Given the description of an element on the screen output the (x, y) to click on. 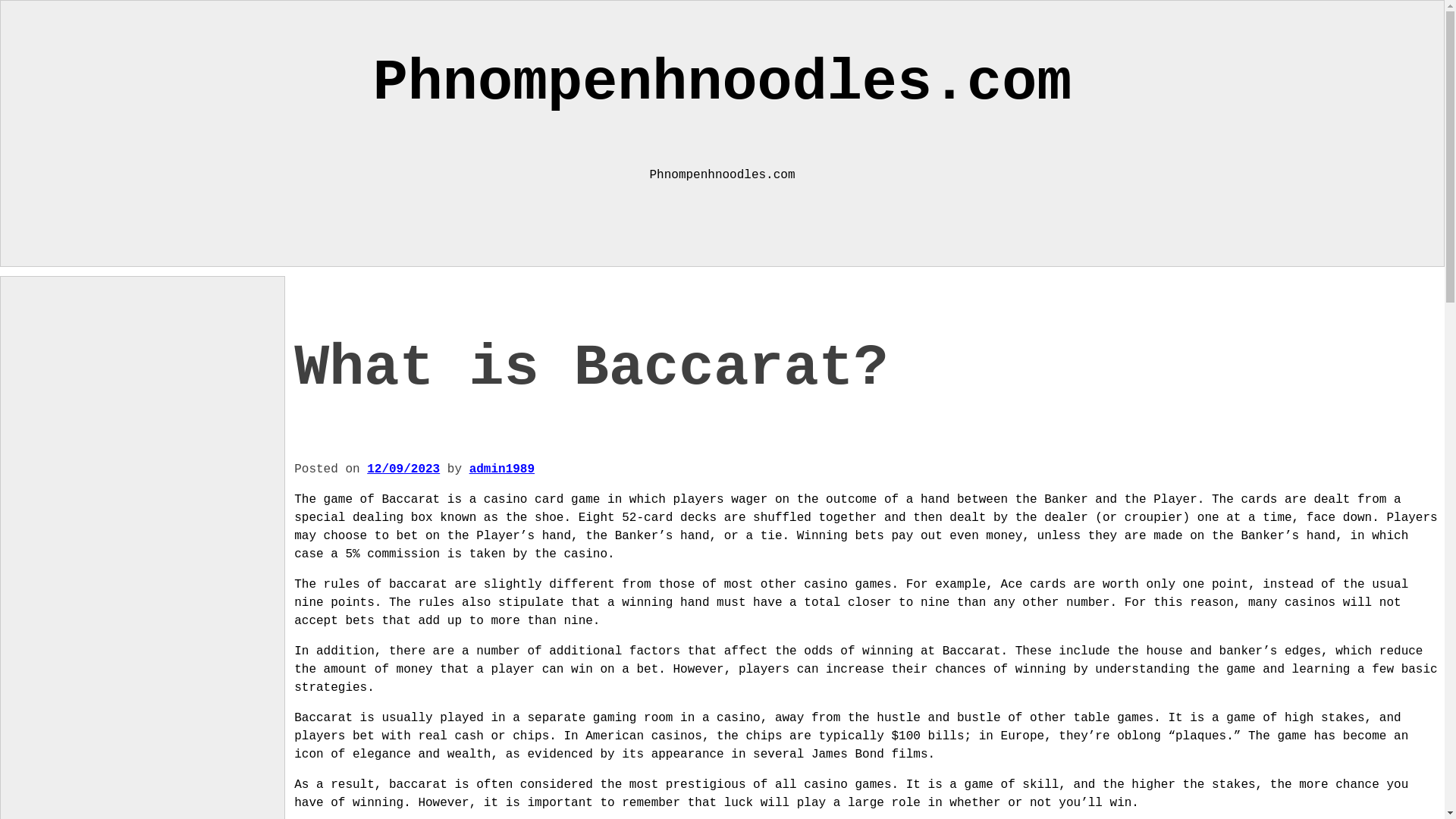
admin1989 (501, 468)
Phnompenhnoodles.com (721, 82)
